Given the description of an element on the screen output the (x, y) to click on. 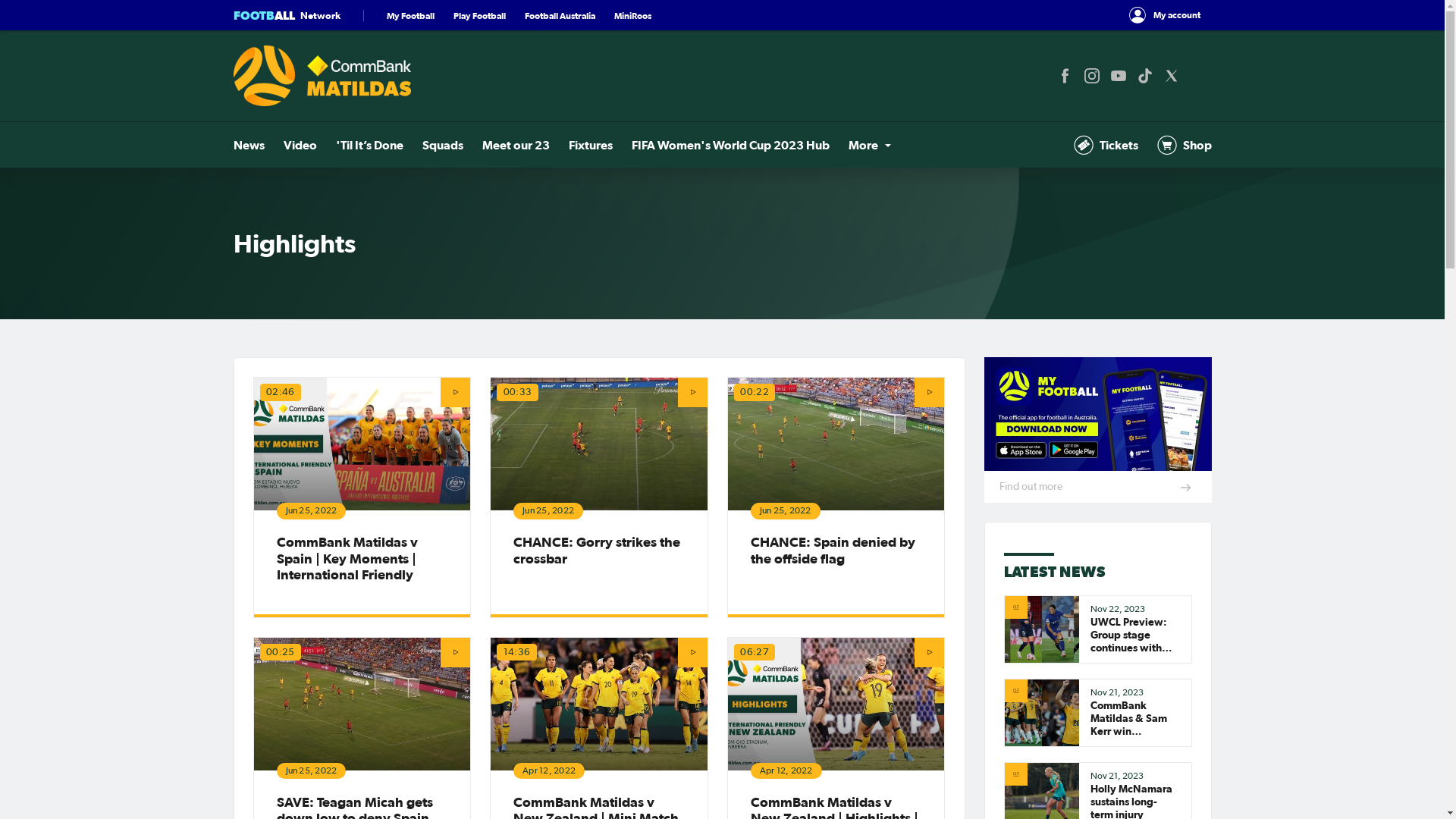
Meet our 23 Element type: text (515, 144)
FIFA Women's World Cup 2023 Hub Element type: text (729, 144)
00:33
Jun 25, 2022
CHANCE: Gorry strikes the crossbar Element type: text (598, 497)
Squads Element type: text (441, 144)
My Football Element type: text (410, 15)
00:22
Jun 25, 2022
CHANCE: Spain denied by the offside flag Element type: text (836, 497)
Football Australia Element type: text (559, 15)
Tickets Element type: text (1105, 144)
News Element type: text (248, 144)
Shop Element type: text (1184, 144)
My account Element type: text (1164, 15)
Find out more Element type: text (1097, 429)
MiniRoos Element type: text (632, 15)
Fixtures Element type: text (590, 144)
Play Football Element type: text (479, 15)
Video Element type: text (299, 144)
